Given the description of an element on the screen output the (x, y) to click on. 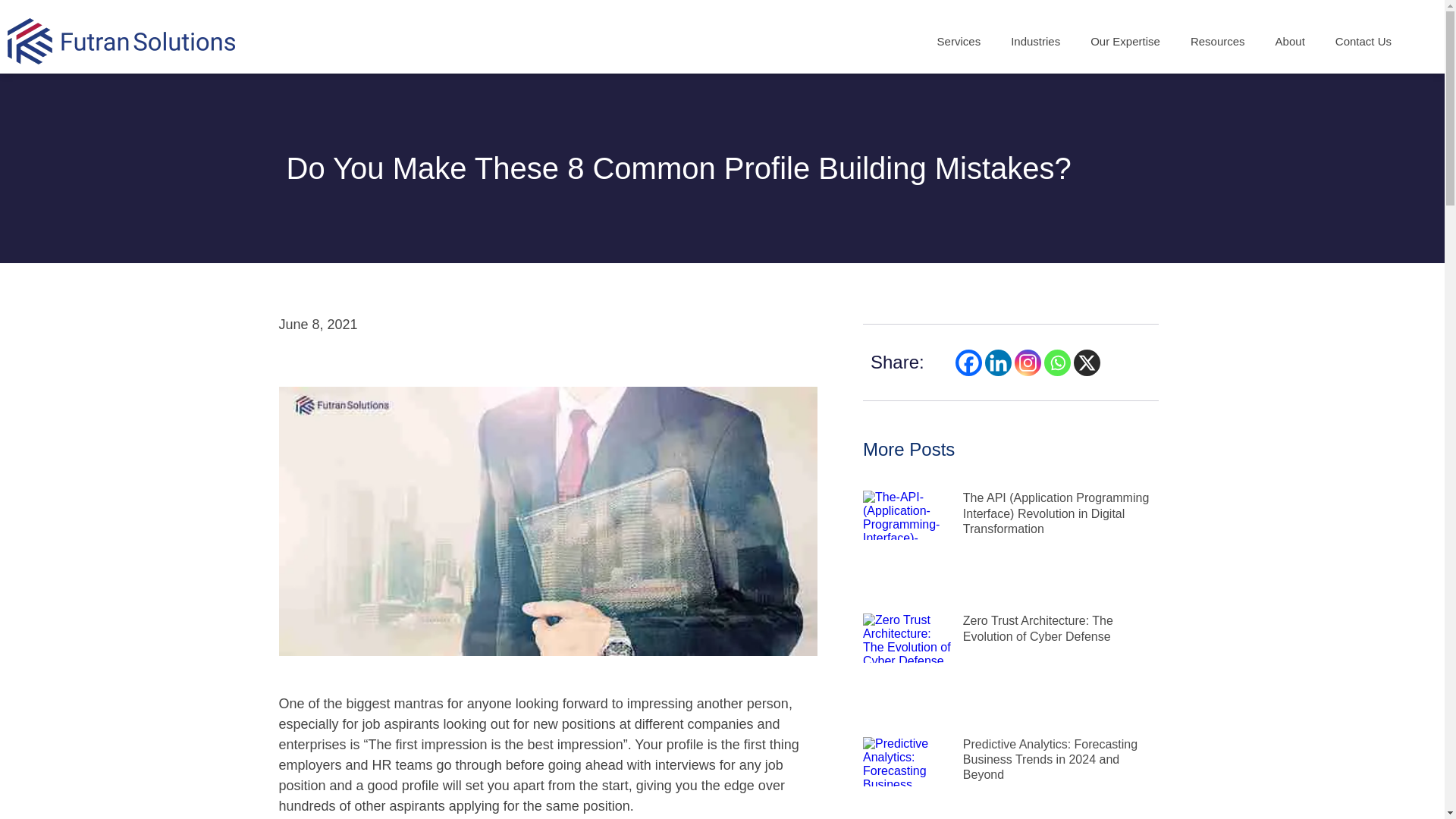
Linkedin (998, 362)
Industries (1035, 40)
Contact Us (1363, 40)
Instagram (1027, 362)
Our Expertise (1124, 40)
Resources (1217, 40)
Whatsapp (1056, 362)
Services (958, 40)
Facebook (968, 362)
X (1087, 362)
